Given the description of an element on the screen output the (x, y) to click on. 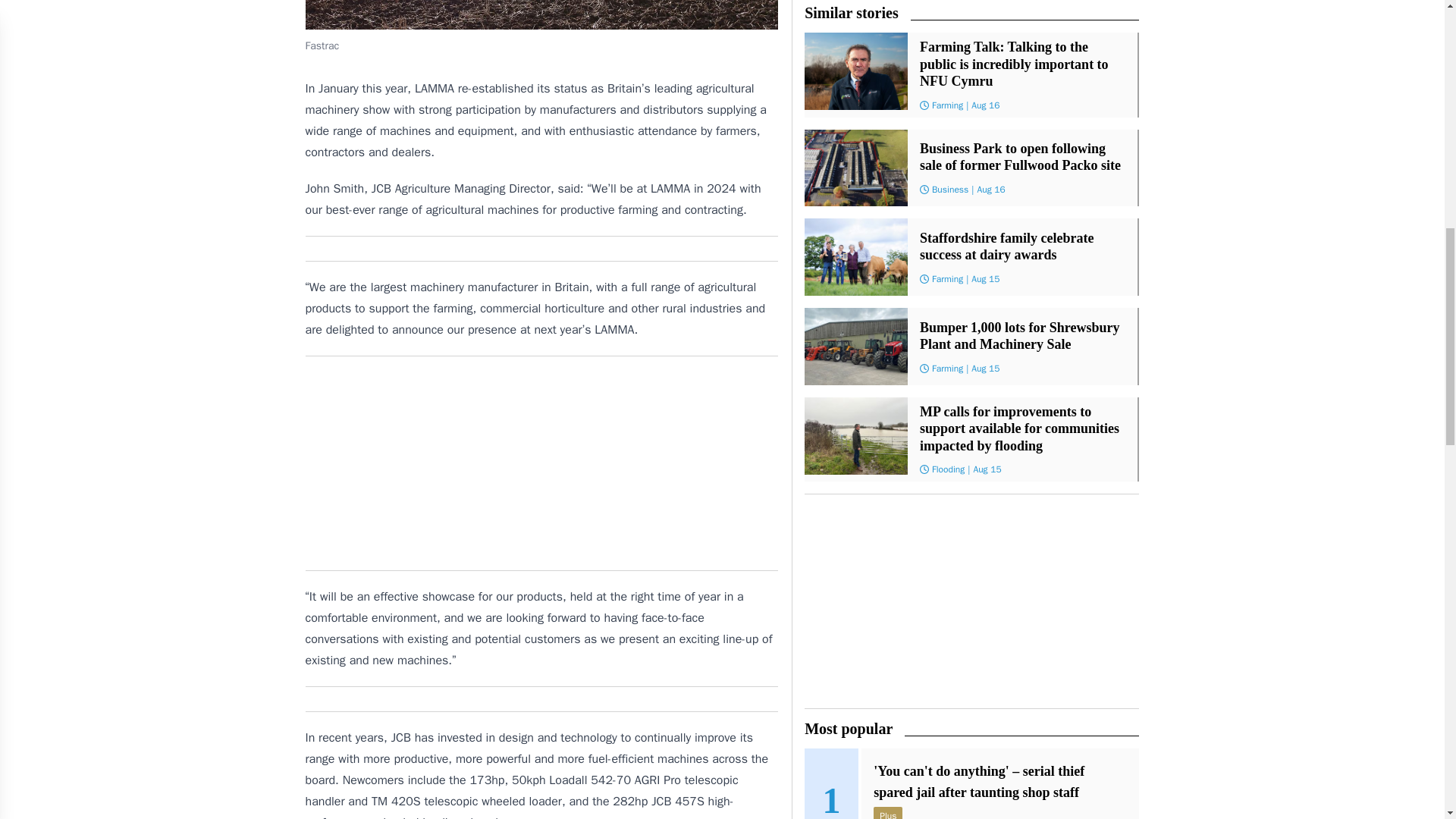
Flooding (947, 469)
Farming (946, 278)
Farming (946, 104)
Business (949, 189)
Farming (946, 368)
